Given the description of an element on the screen output the (x, y) to click on. 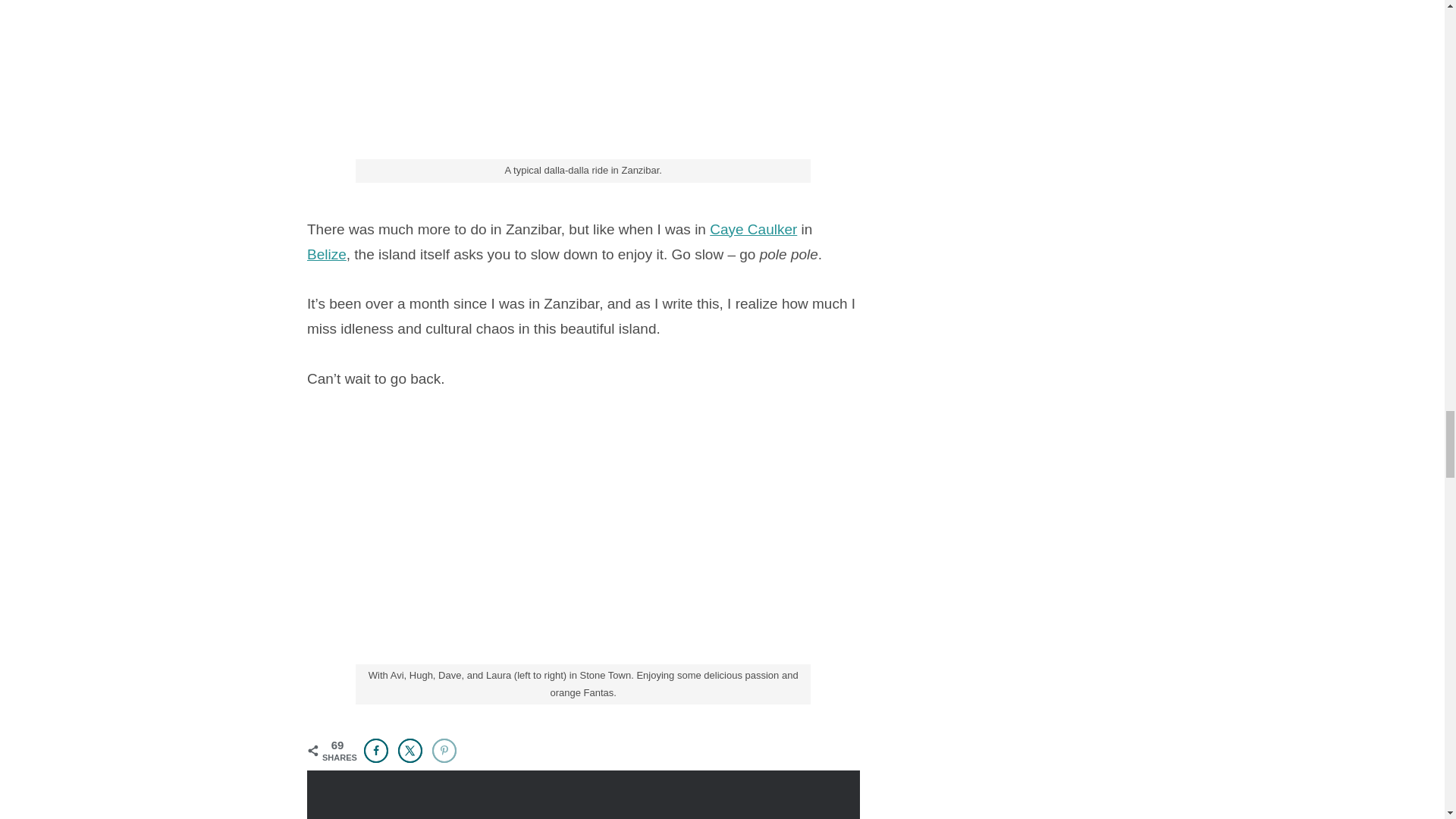
Save to Pinterest (444, 750)
Share on Facebook (376, 750)
Zanzibar: Between Idleness And So Much To Do 2 (582, 83)
Zanzibar: Between Idleness And So Much To Do 3 (582, 543)
Share on X (409, 750)
Belize (326, 254)
Caye Caulker (753, 229)
